Given the description of an element on the screen output the (x, y) to click on. 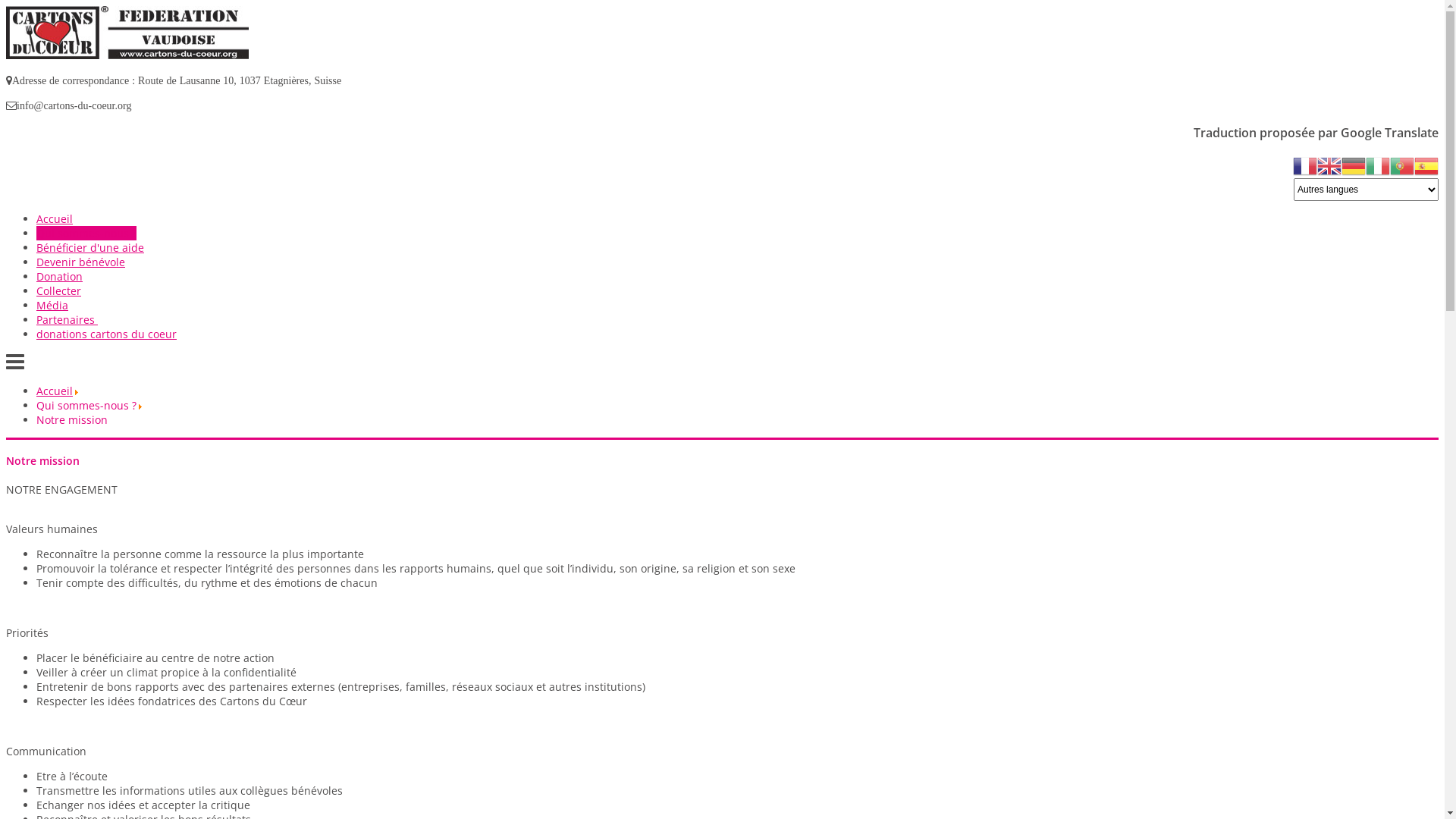
donations cartons du coeur Element type: text (106, 333)
Donation Element type: text (59, 276)
Accueil Element type: text (54, 218)
Partenaires Element type: text (66, 319)
Portuguese Element type: hover (1402, 164)
Spanish Element type: hover (1426, 164)
English Element type: hover (1329, 164)
Qui sommes-nous ? Element type: text (86, 232)
German Element type: hover (1353, 164)
Accueil Element type: text (54, 390)
Collecter Element type: text (58, 290)
Italian Element type: hover (1377, 164)
French Element type: hover (1304, 164)
